Given the description of an element on the screen output the (x, y) to click on. 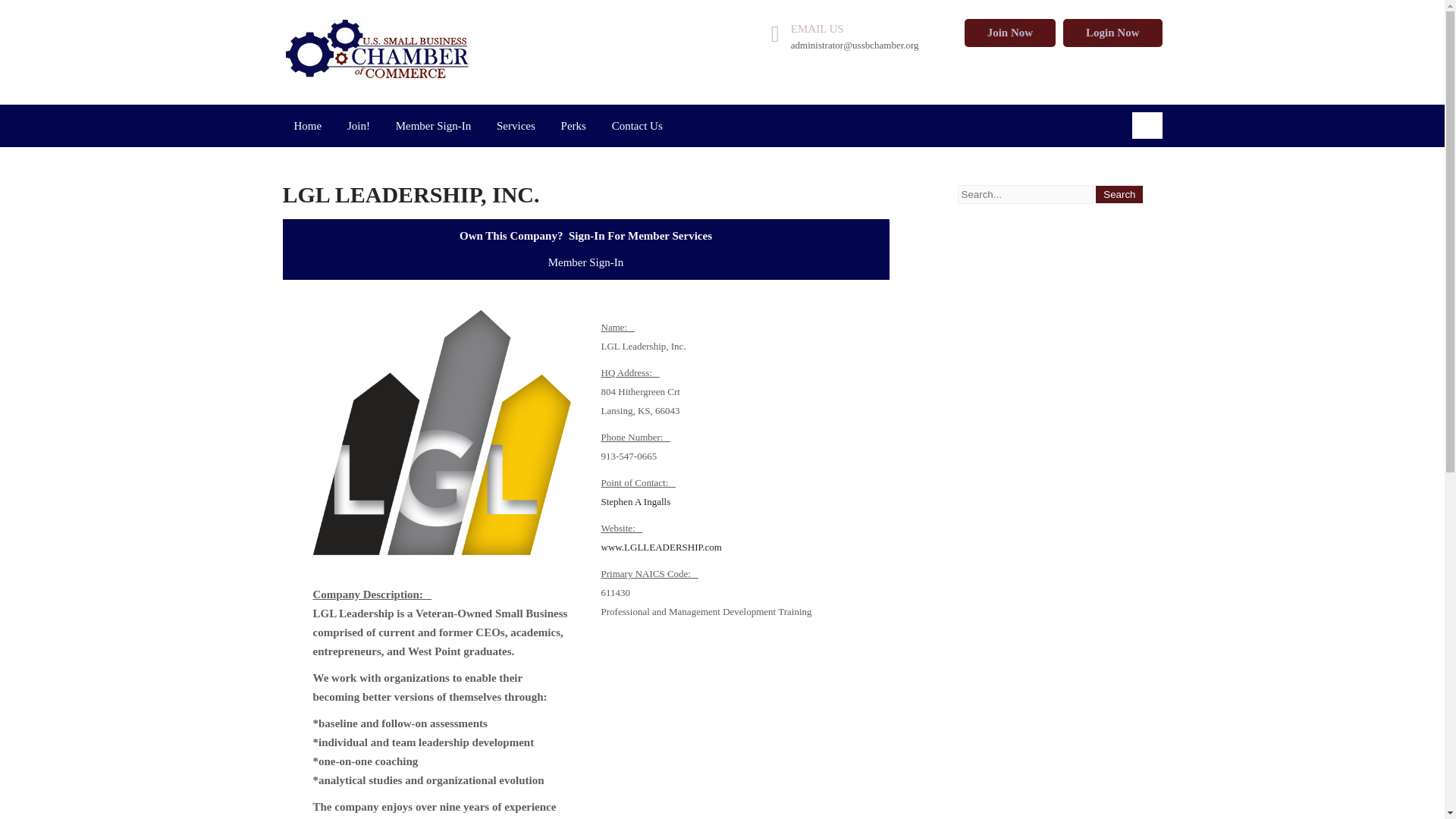
Search (1119, 194)
Search (1119, 194)
www.LGLLEADERSHIP.com (659, 546)
Perks (573, 126)
Stephen A Ingalls (634, 501)
Services (515, 126)
Contact Us (636, 126)
Join! (358, 126)
Member Sign-In (433, 126)
lgllogo (441, 432)
